Given the description of an element on the screen output the (x, y) to click on. 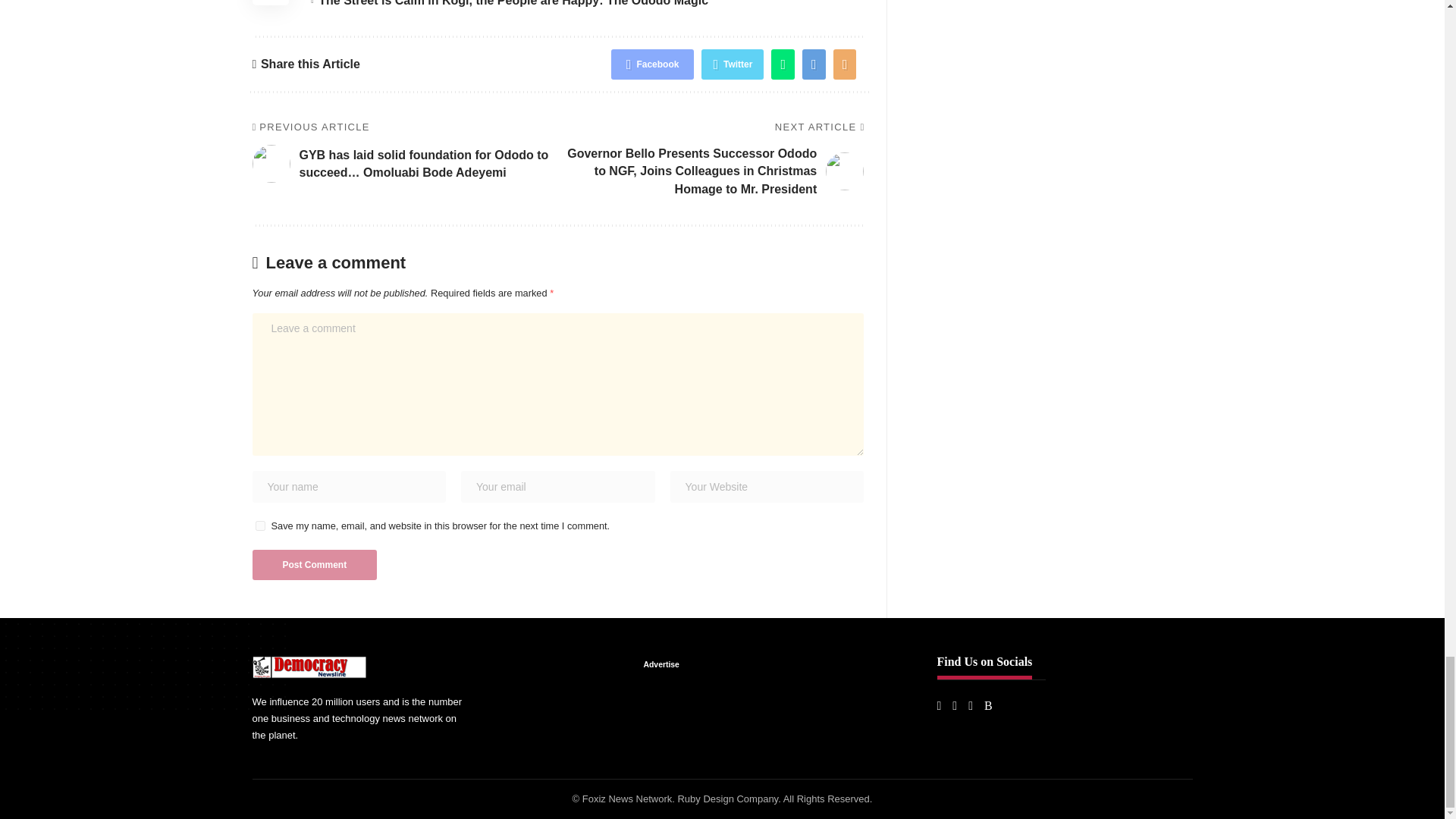
Post Comment (314, 564)
yes (259, 525)
